Given the description of an element on the screen output the (x, y) to click on. 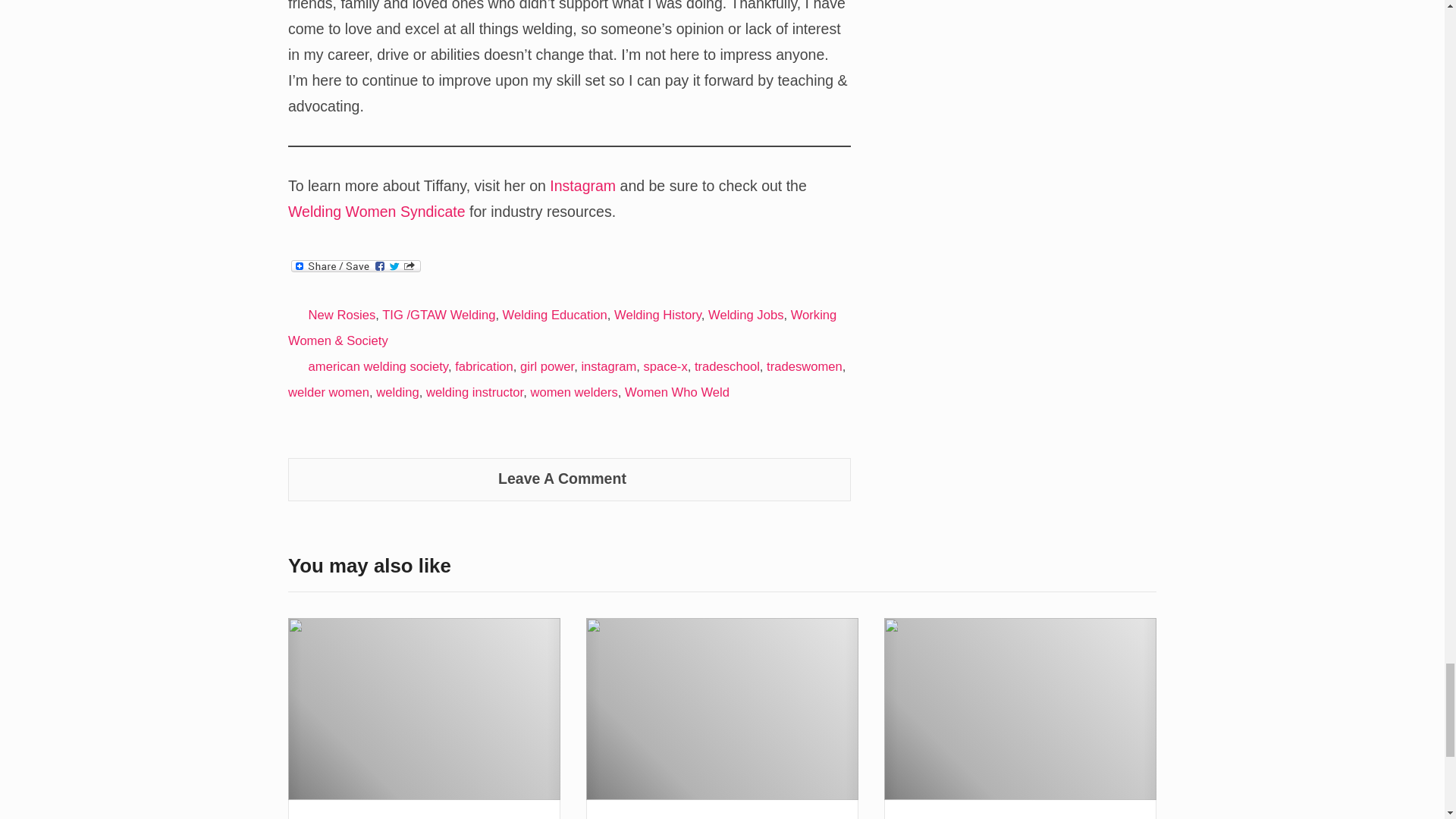
Welding Jobs (745, 314)
Welding History (657, 314)
Welding Women Syndicate (376, 211)
Welding Education (554, 314)
Instagram (582, 185)
New Rosies (341, 314)
